Given the description of an element on the screen output the (x, y) to click on. 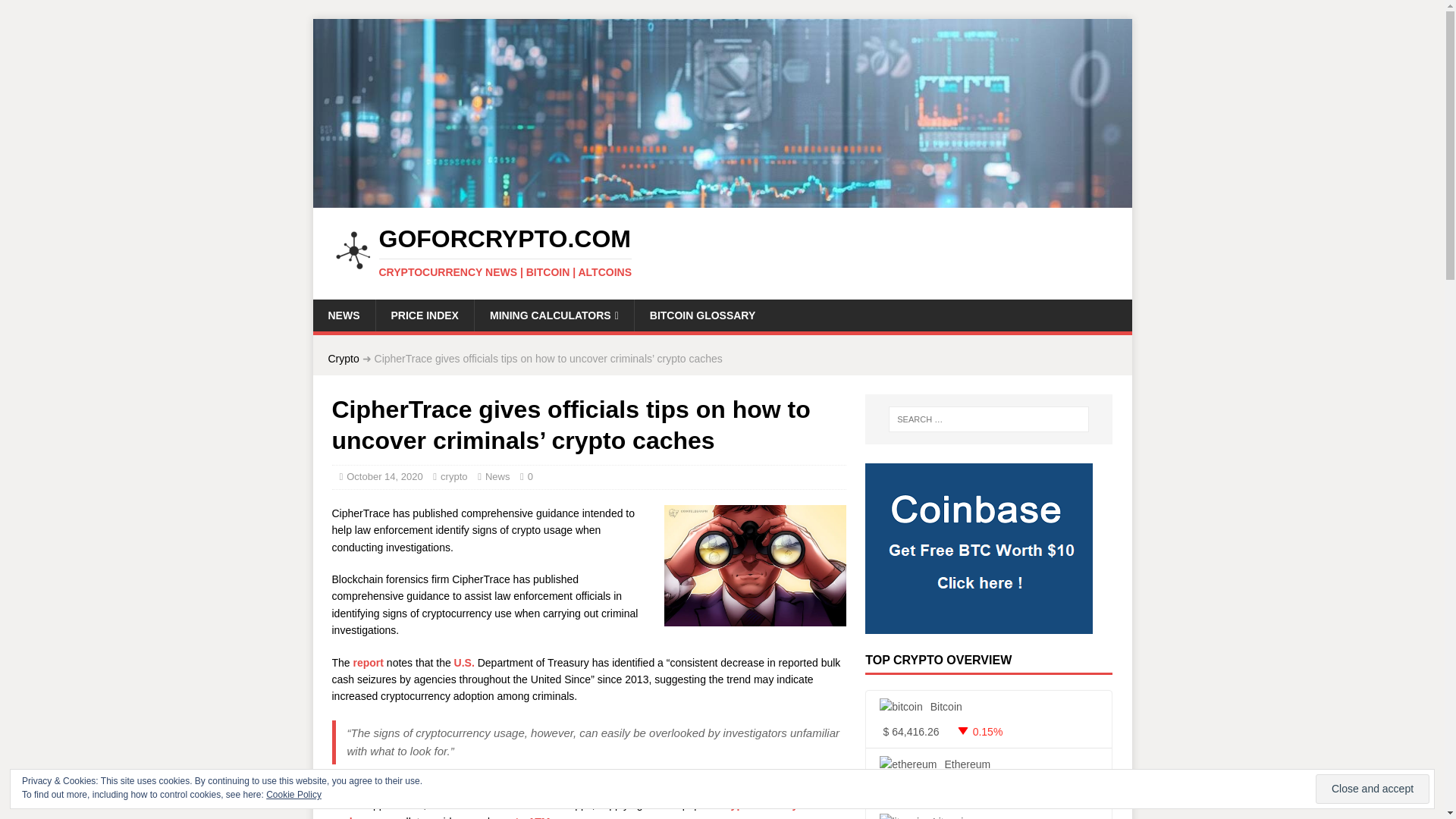
crypto (454, 476)
Crypto (342, 358)
GoForCrypto.com (722, 198)
U.S. (464, 662)
NEWS (343, 315)
News (497, 476)
GoForCrypto.com (504, 252)
cryptocurrency exchanges (564, 808)
PRICE INDEX (423, 315)
crypto ATM (521, 817)
BITCOIN GLOSSARY (702, 315)
report (368, 662)
Search (56, 11)
October 14, 2020 (384, 476)
Close and accept (1372, 788)
